Given the description of an element on the screen output the (x, y) to click on. 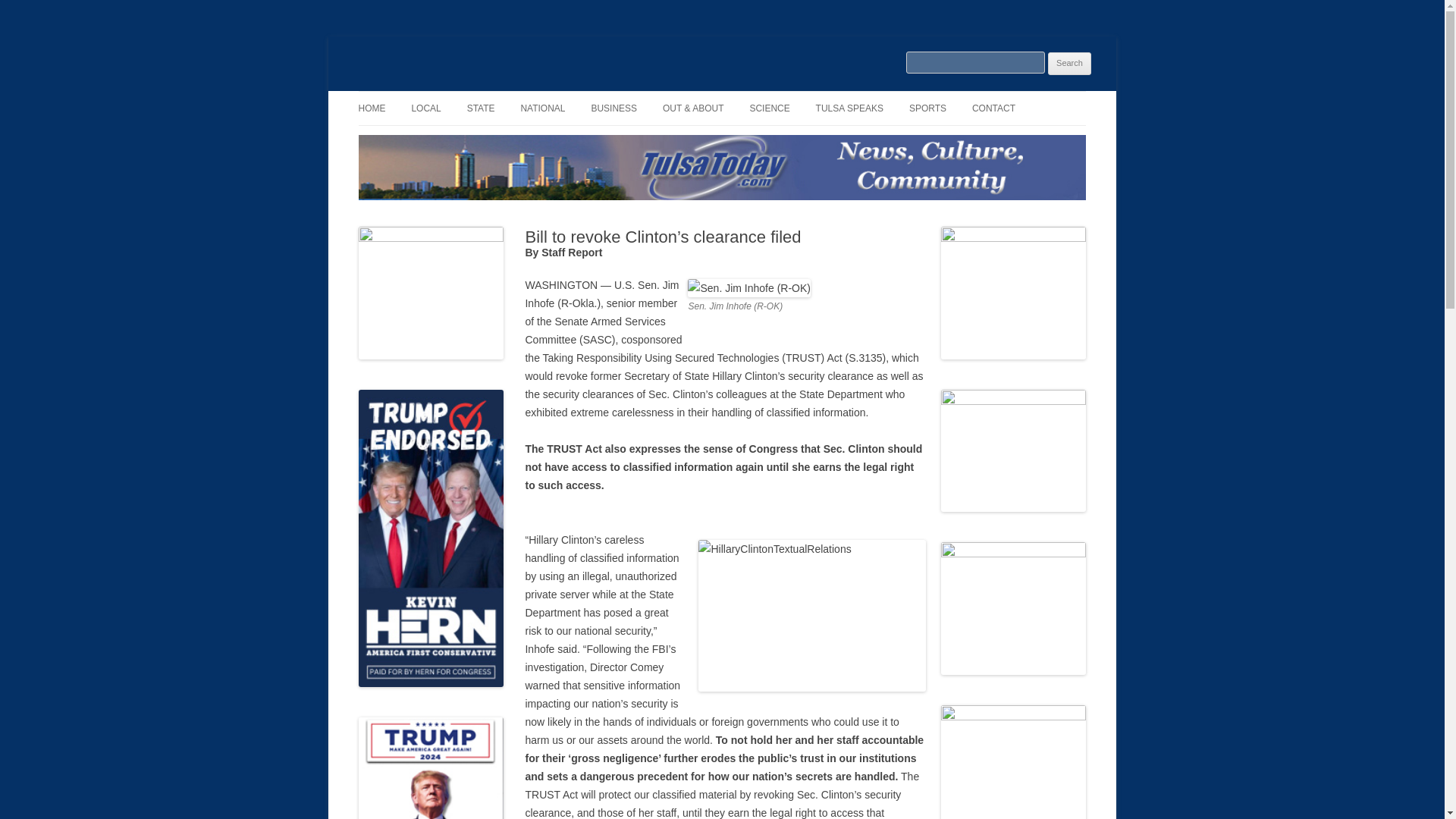
SCIENCE (769, 108)
TULSA SPEAKS (849, 108)
Skip to content (757, 95)
CONTACT (993, 108)
BUSINESS (614, 108)
Search (1069, 63)
Search (1069, 63)
Skip to content (757, 95)
SPORTS (927, 108)
NATIONAL (541, 108)
